Given the description of an element on the screen output the (x, y) to click on. 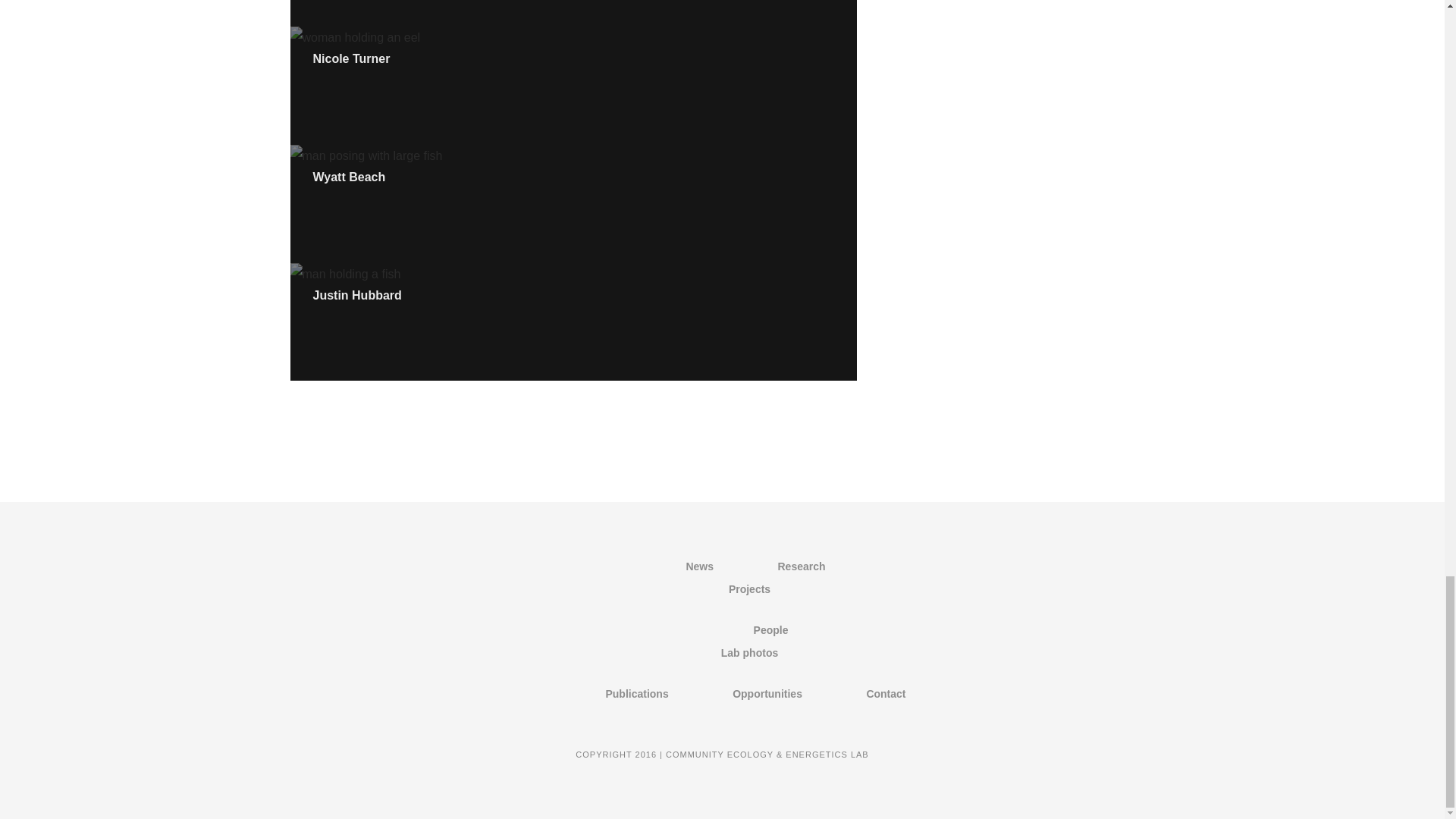
Wyatt Beach (349, 176)
Projects (749, 589)
Publications (636, 693)
People (771, 630)
Nicole Turner (351, 58)
Research (801, 566)
News (699, 566)
Lab photos (748, 653)
Justin Hubbard (357, 295)
